Given the description of an element on the screen output the (x, y) to click on. 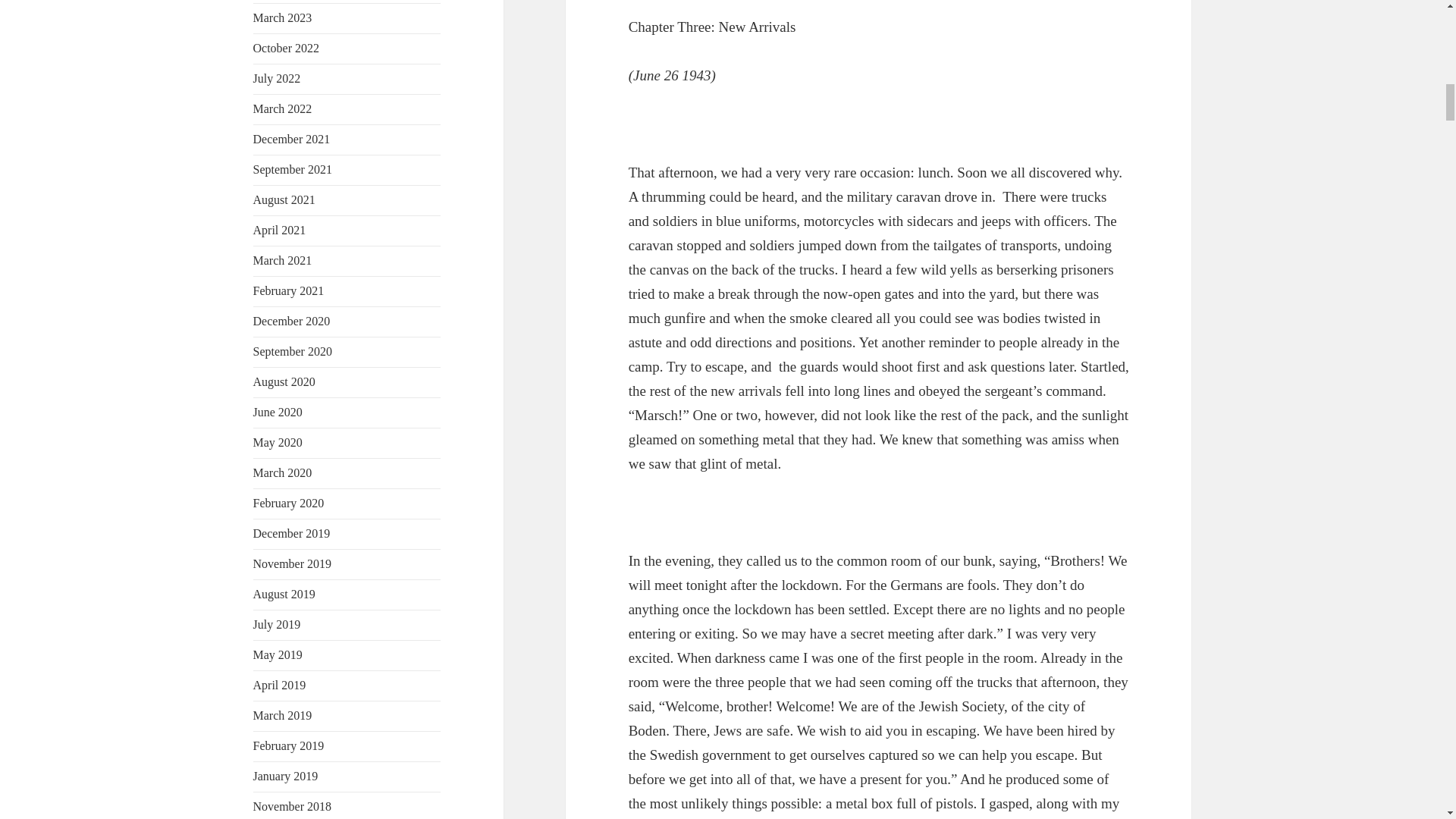
April 2021 (279, 229)
October 2022 (286, 47)
September 2020 (292, 350)
March 2023 (283, 17)
March 2021 (283, 259)
September 2021 (292, 169)
February 2021 (288, 290)
July 2022 (277, 78)
December 2021 (291, 138)
December 2020 (291, 320)
March 2022 (283, 108)
August 2021 (284, 199)
August 2020 (284, 381)
